Given the description of an element on the screen output the (x, y) to click on. 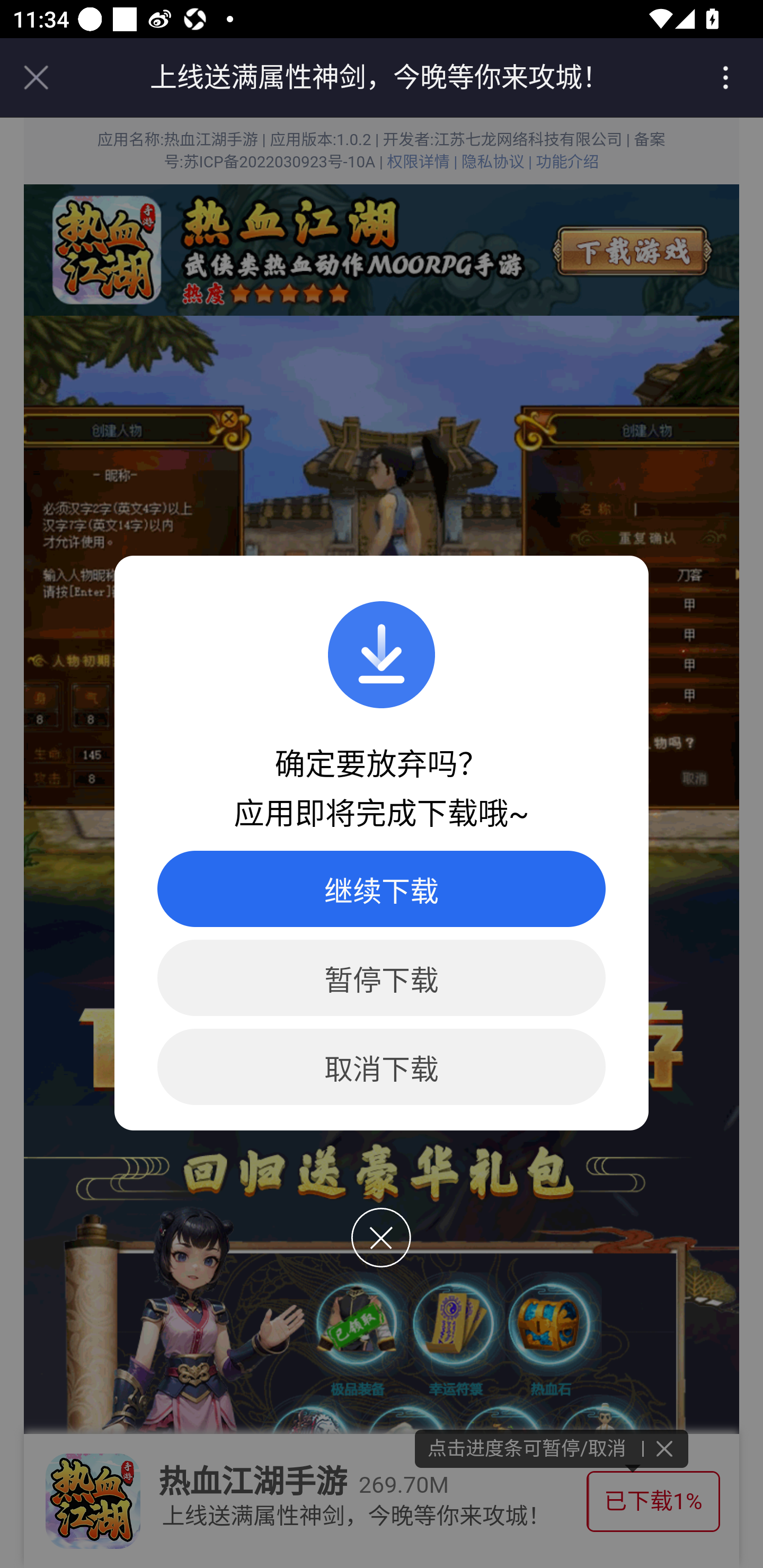
继续下载 (381, 888)
暂停下载 (381, 978)
取消下载 (381, 1066)
